Given the description of an element on the screen output the (x, y) to click on. 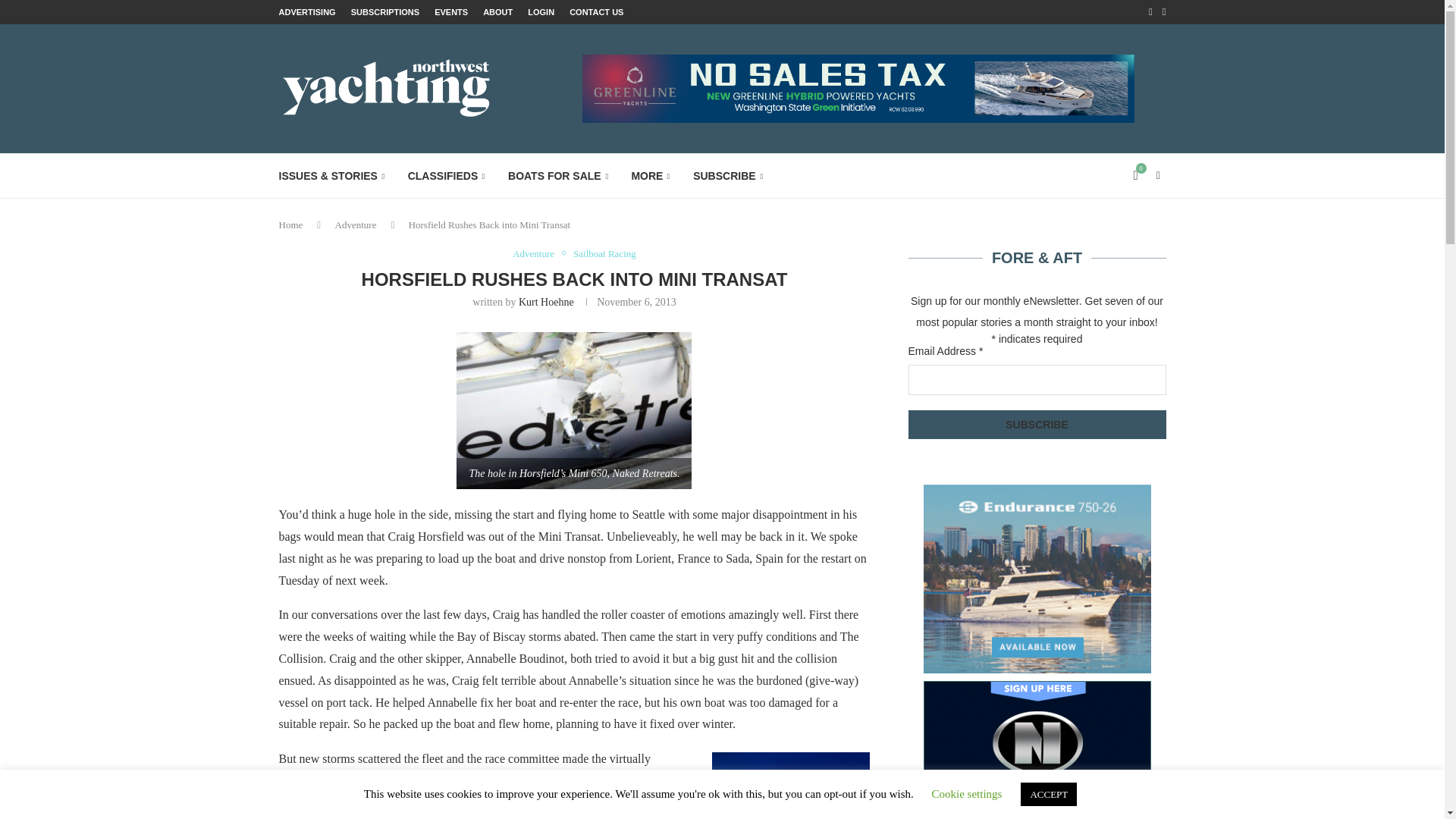
CLASSIFIEDS (445, 176)
BOATS FOR SALE (558, 176)
CONTACT US (596, 12)
View your shopping cart (1135, 175)
SUBSCRIPTIONS (384, 12)
LOGIN (540, 12)
EVENTS (450, 12)
Subscribe (1037, 423)
ABOUT (497, 12)
ADVERTISING (307, 12)
MORE (649, 176)
